Given the description of an element on the screen output the (x, y) to click on. 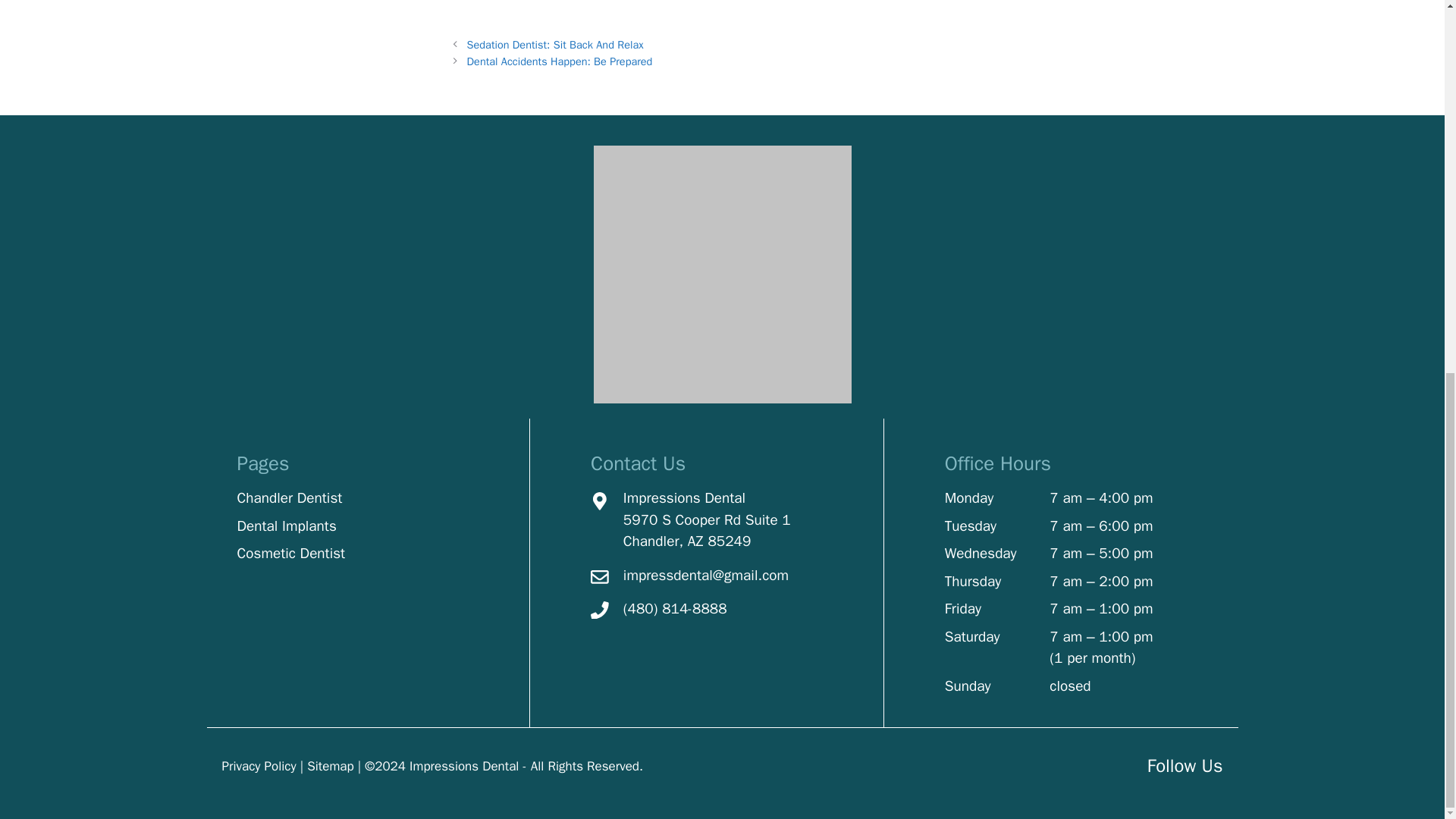
privacy policies (258, 765)
dentist in Chandler AZ (288, 497)
Chandler dentist (463, 765)
dental implants Chandler AZ (285, 525)
cosmentic dentistry Chandler AZ (290, 553)
